Given the description of an element on the screen output the (x, y) to click on. 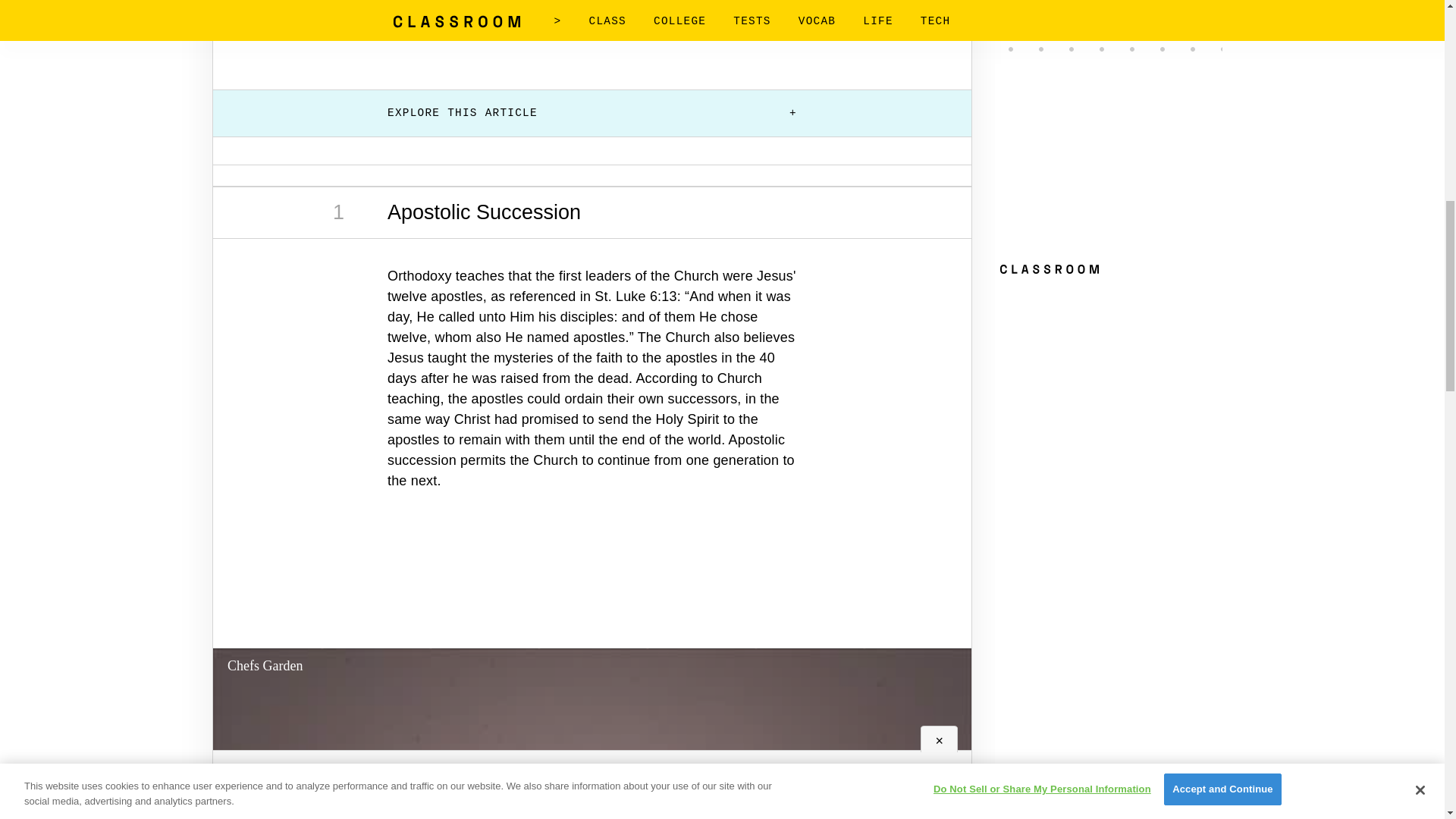
3rd party ad content (591, 586)
3rd party ad content (592, 31)
